Given the description of an element on the screen output the (x, y) to click on. 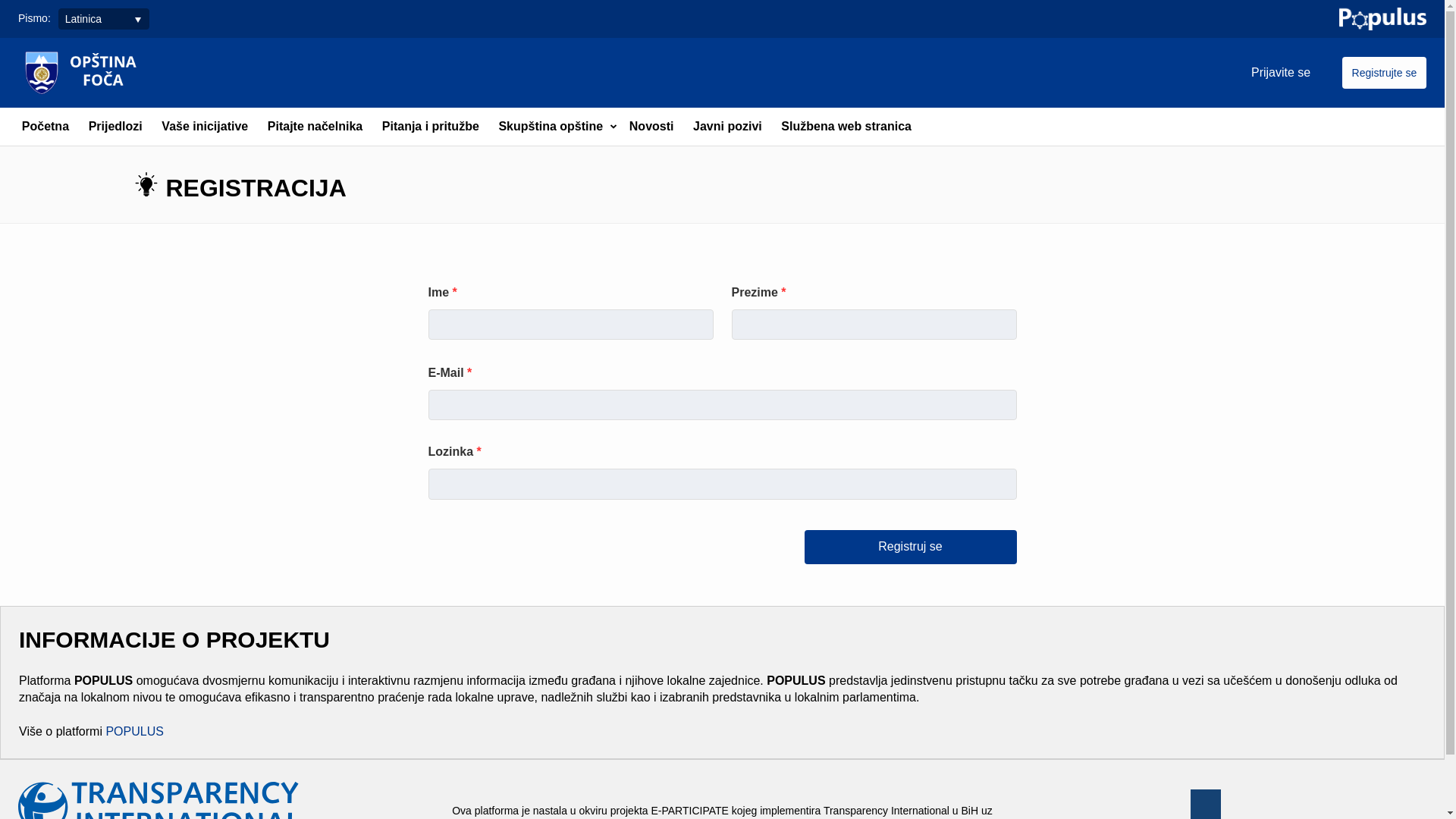
Registruj se Element type: text (909, 547)
Prijavite se Element type: text (1280, 72)
Prijedlozi Element type: text (115, 126)
Javni pozivi Element type: text (727, 126)
Novosti Element type: text (651, 126)
Latinica Element type: text (103, 18)
POPULUS Element type: text (134, 730)
Registrujte se Element type: text (1384, 72)
